Given the description of an element on the screen output the (x, y) to click on. 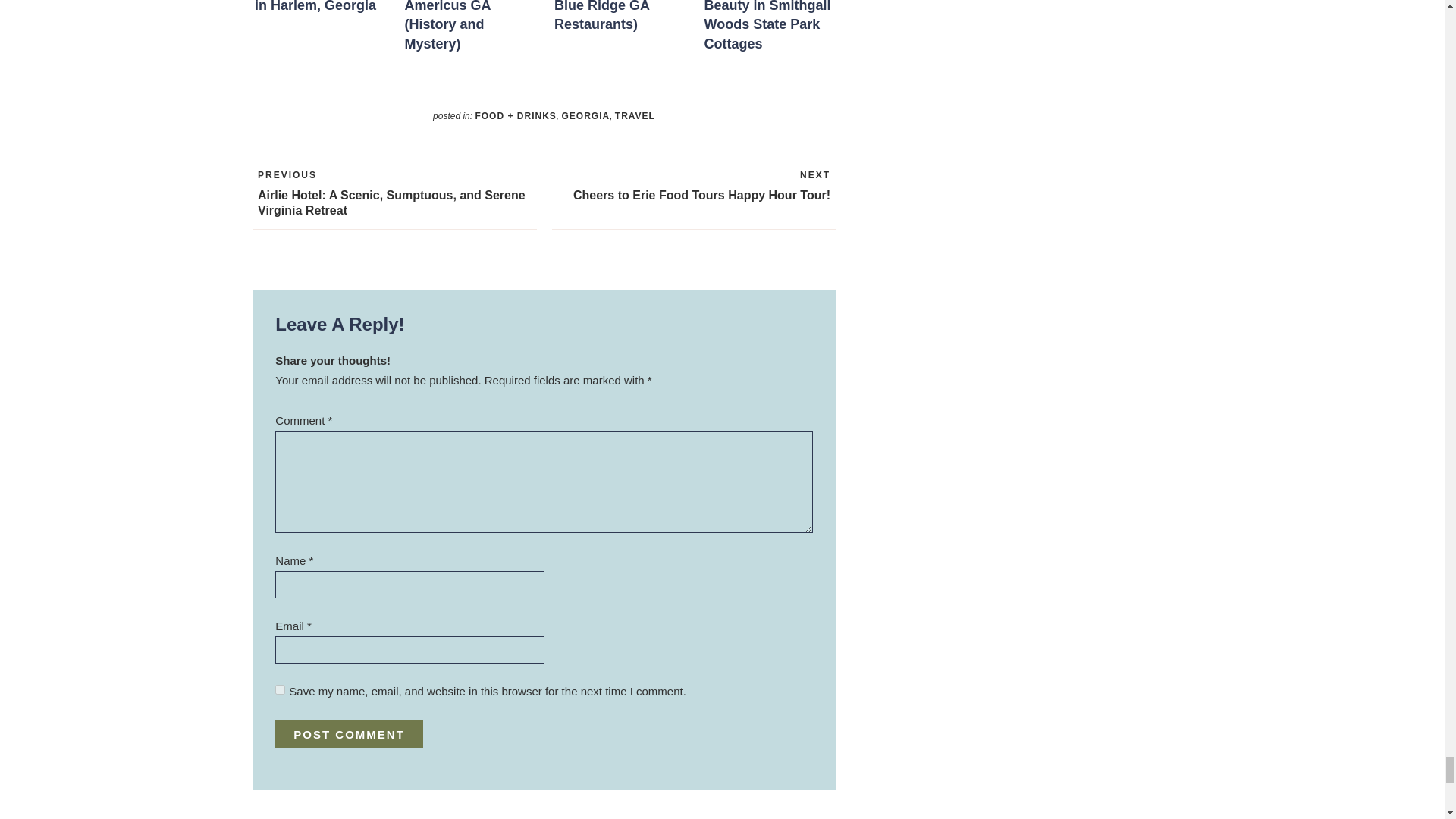
yes (280, 689)
Post Comment (349, 734)
